Given the description of an element on the screen output the (x, y) to click on. 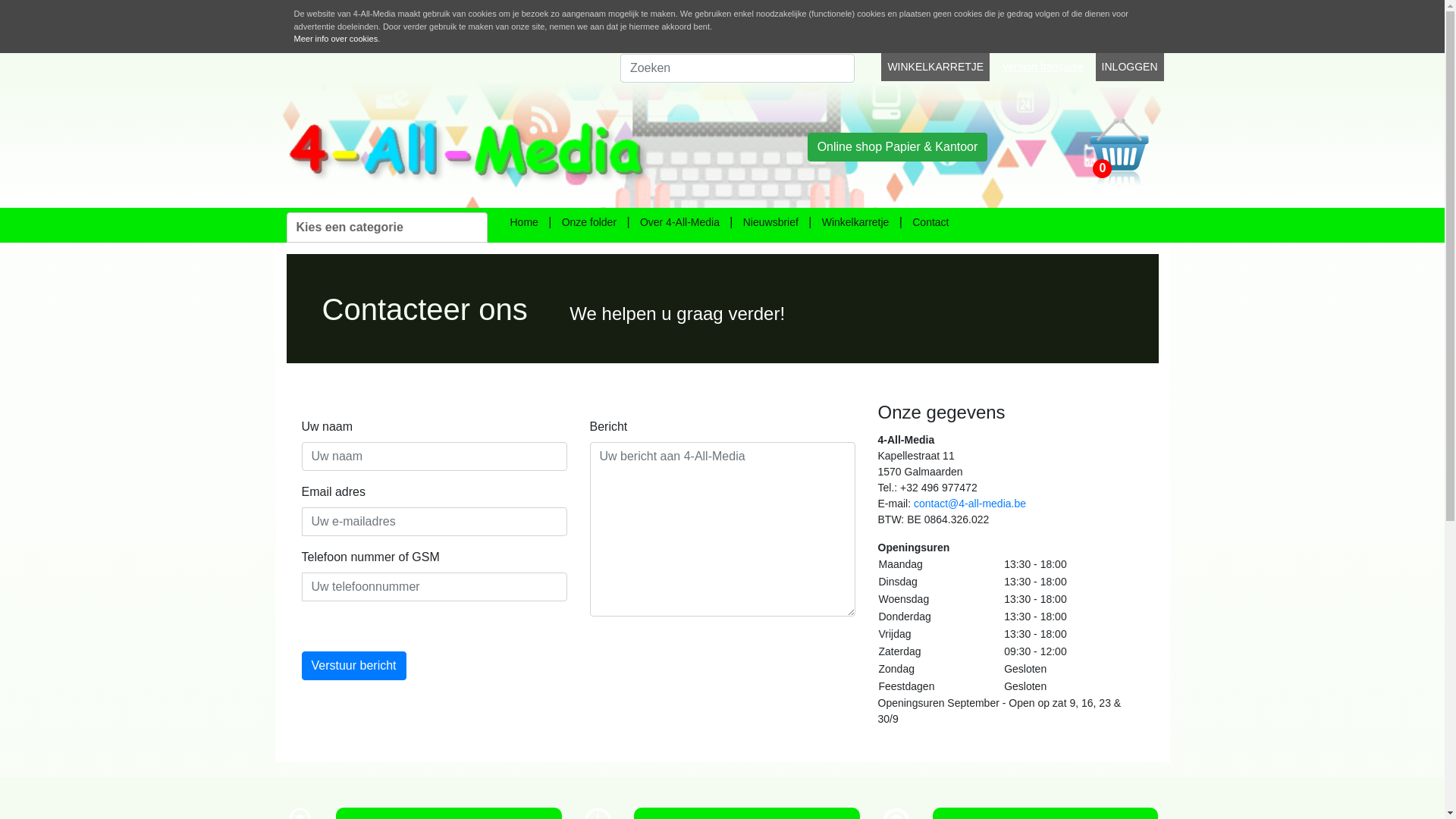
Onze folder Element type: text (588, 222)
Contact Element type: text (930, 222)
Meer info over cookies Element type: text (336, 38)
Nieuwsbrief Element type: text (770, 222)
Online shop Papier & Kantoor Element type: text (897, 145)
Verstuur bericht Element type: text (353, 665)
Home Element type: text (523, 222)
Winkelkarretje Element type: text (855, 222)
Kies een categorie Element type: text (386, 227)
Online shop Papier & Kantoor Element type: text (897, 145)
contact@4-all-media.be Element type: text (969, 503)
Over 4-All-Media Element type: text (679, 222)
